Given the description of an element on the screen output the (x, y) to click on. 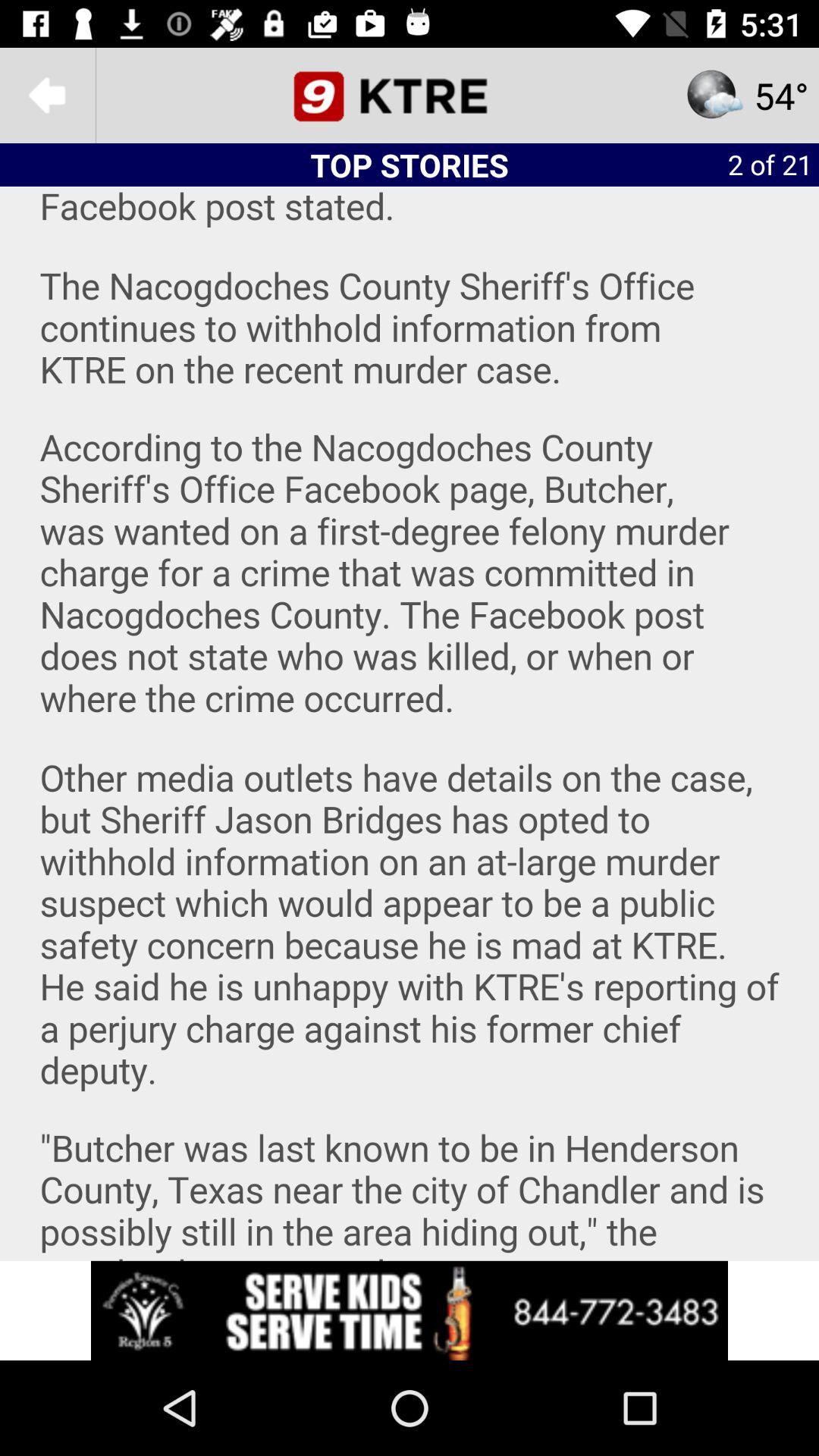
site logo (409, 95)
